Given the description of an element on the screen output the (x, y) to click on. 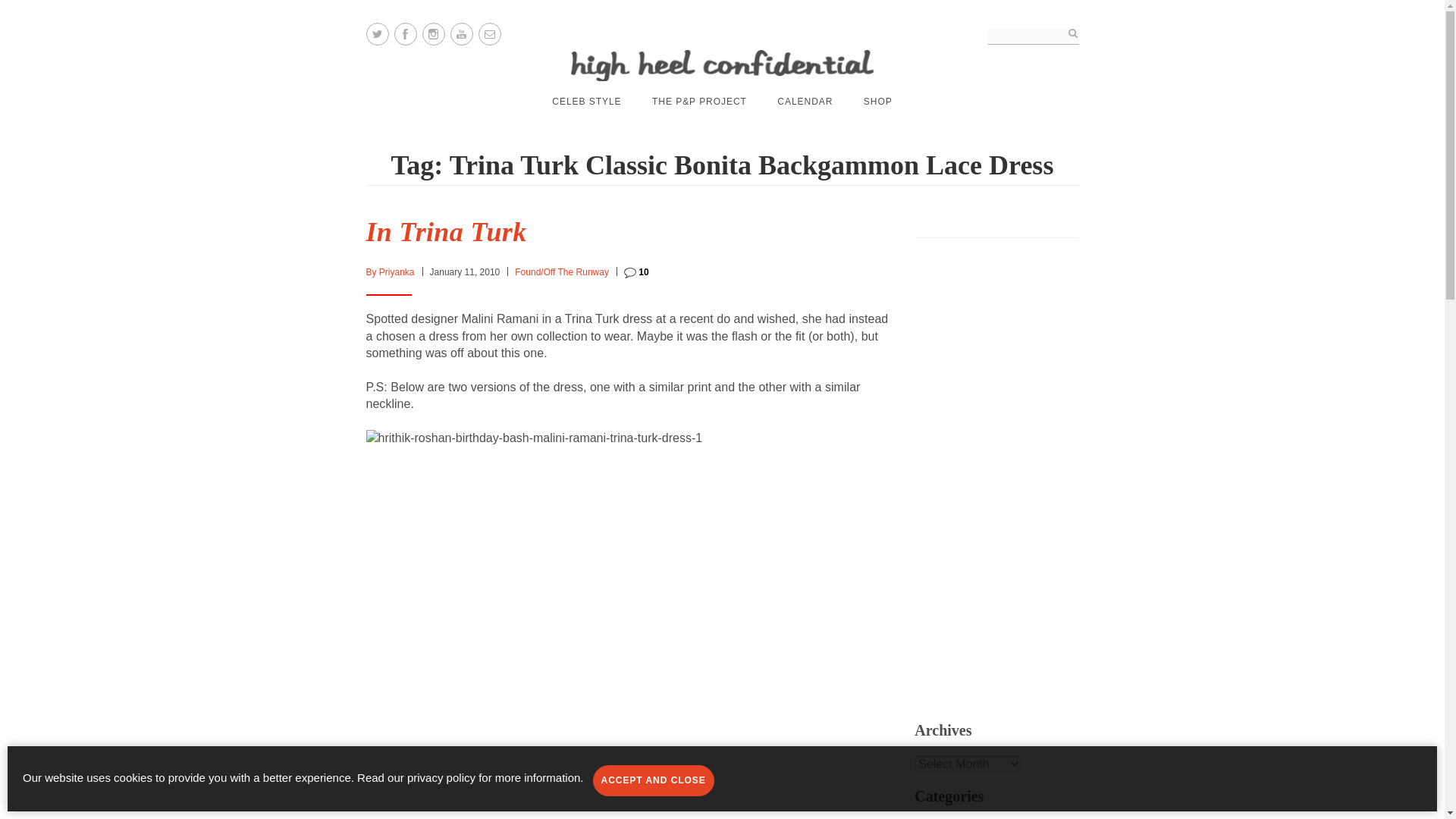
High Heel Confidential (721, 65)
10 (636, 271)
SHOP (877, 101)
CALENDAR (804, 101)
CELEB STYLE (586, 101)
In Trina Turk (445, 232)
Advertisement (1033, 470)
By Priyanka (389, 271)
